Given the description of an element on the screen output the (x, y) to click on. 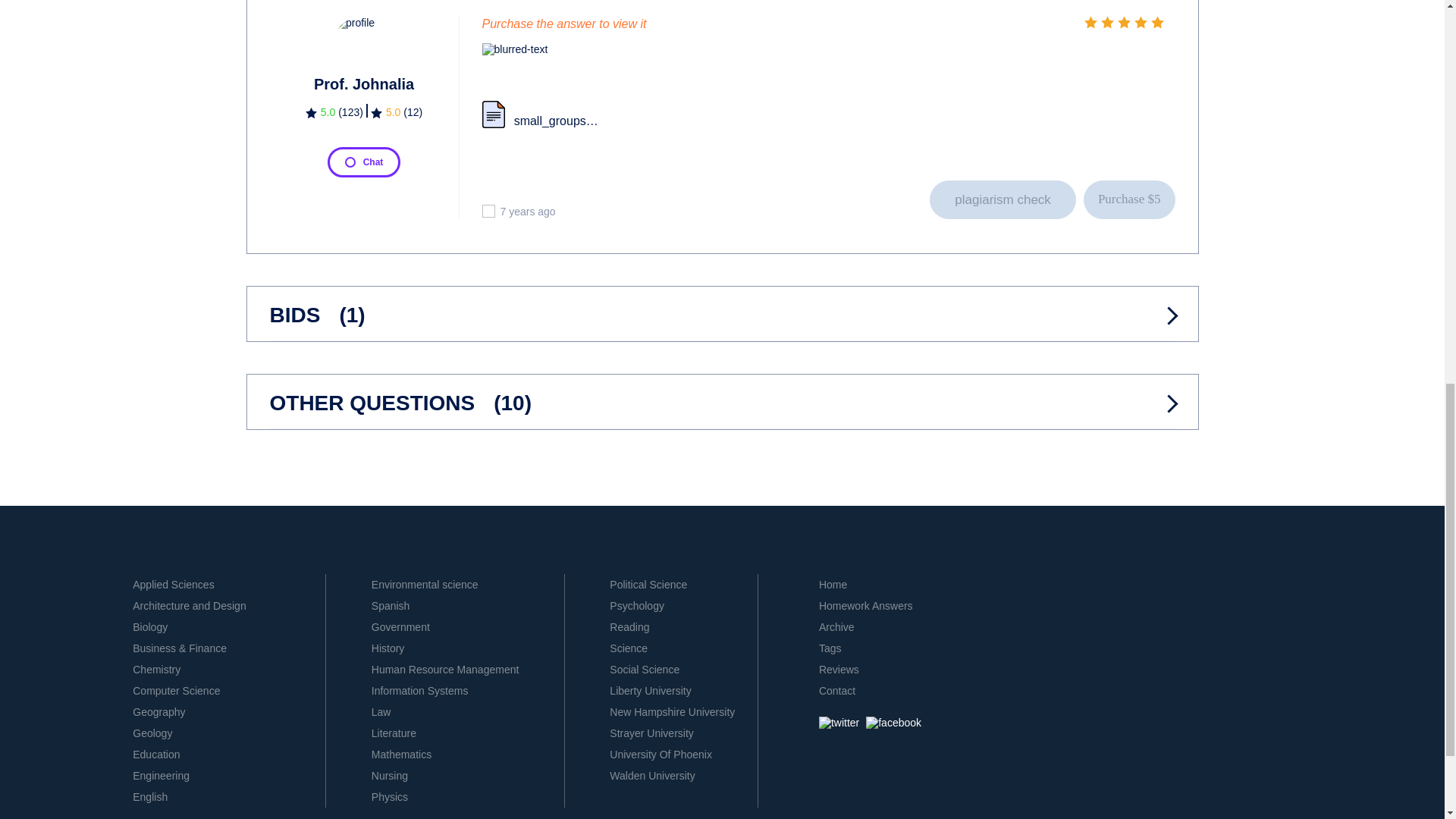
Chat (363, 162)
Biology (149, 626)
Computer Science (175, 690)
plagiarism check (1002, 199)
Chemistry (156, 669)
English ratings (396, 114)
Applied Sciences (173, 584)
Architecture and Design (189, 605)
All ratings (333, 114)
